Given the description of an element on the screen output the (x, y) to click on. 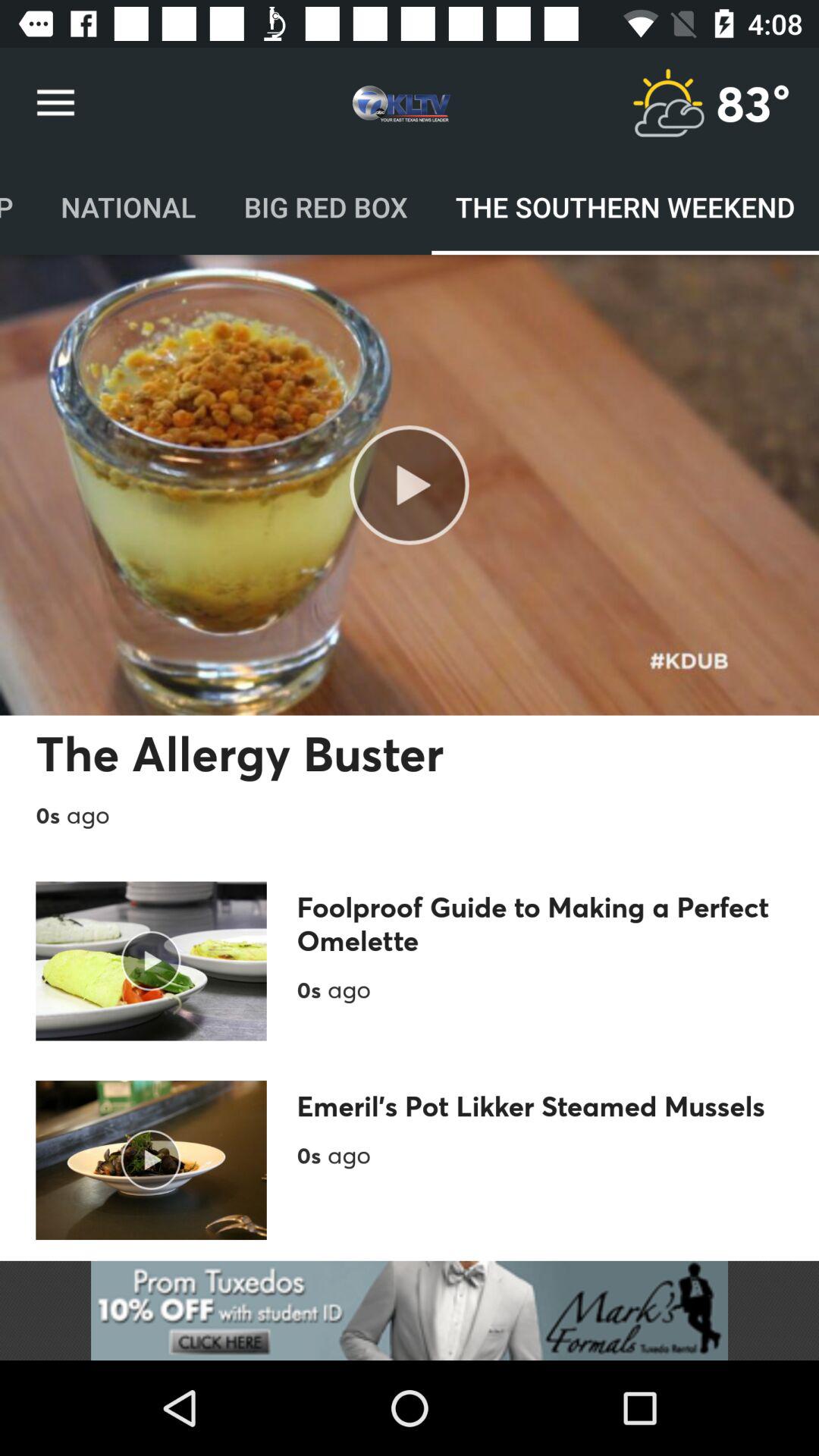
check weather (668, 103)
